Given the description of an element on the screen output the (x, y) to click on. 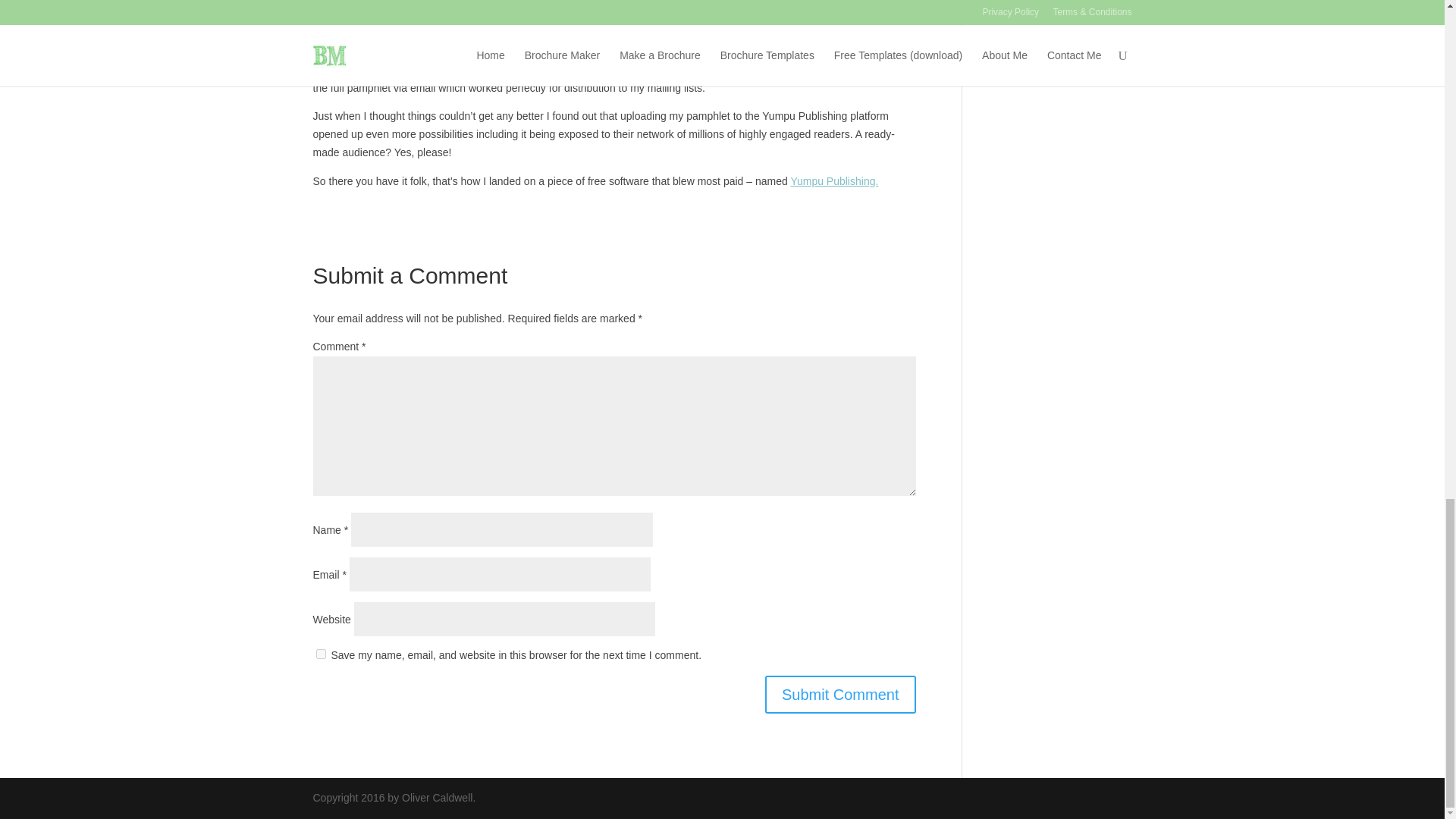
Submit Comment (840, 694)
yes (319, 654)
Submit Comment (840, 694)
Yumpu Publishing. (839, 181)
